Given the description of an element on the screen output the (x, y) to click on. 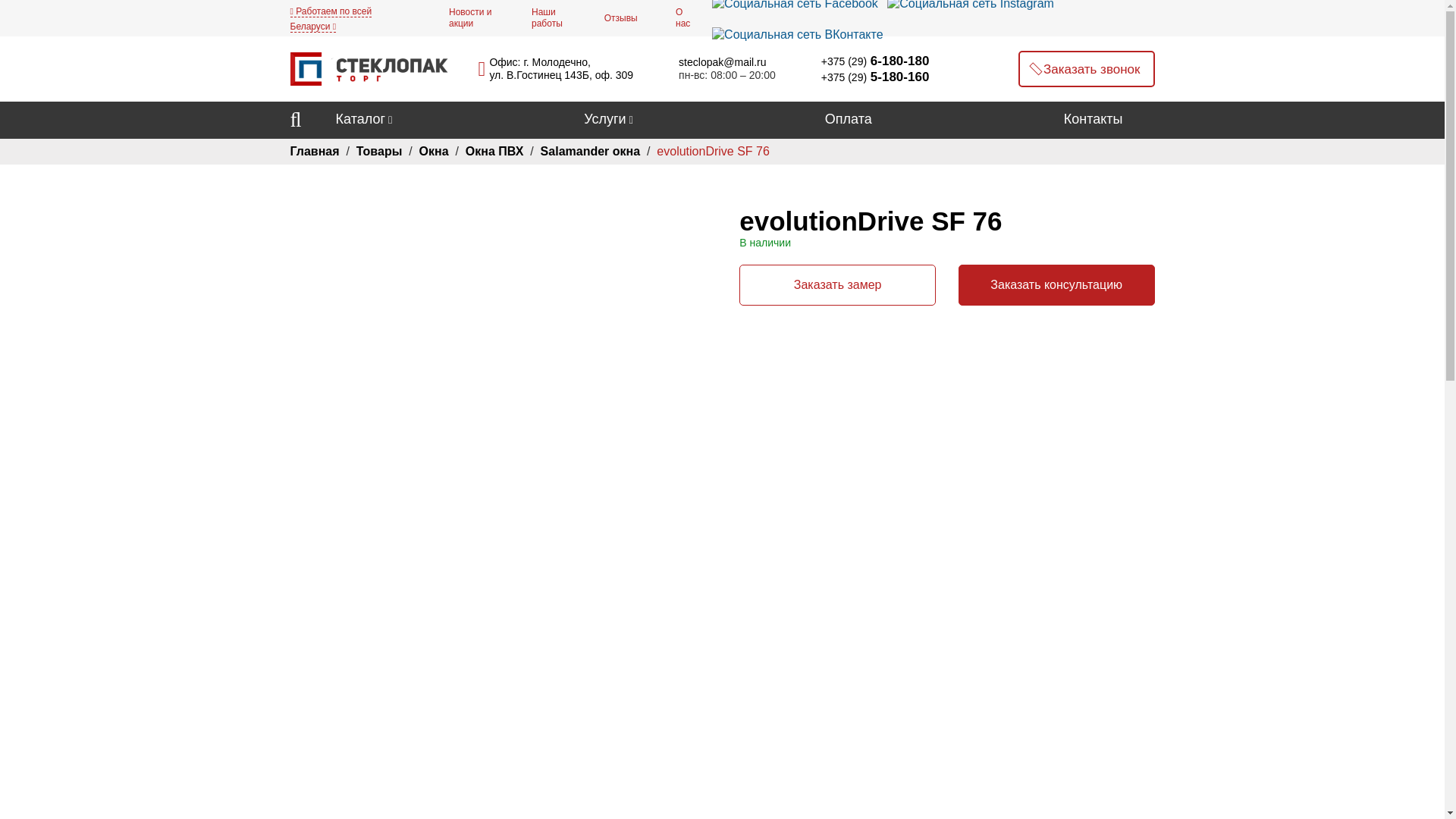
+375 (29) 6-180-180 Element type: text (867, 60)
+375 (29) 5-180-160 Element type: text (867, 76)
steclopak@mail.ru Element type: text (721, 62)
